Given the description of an element on the screen output the (x, y) to click on. 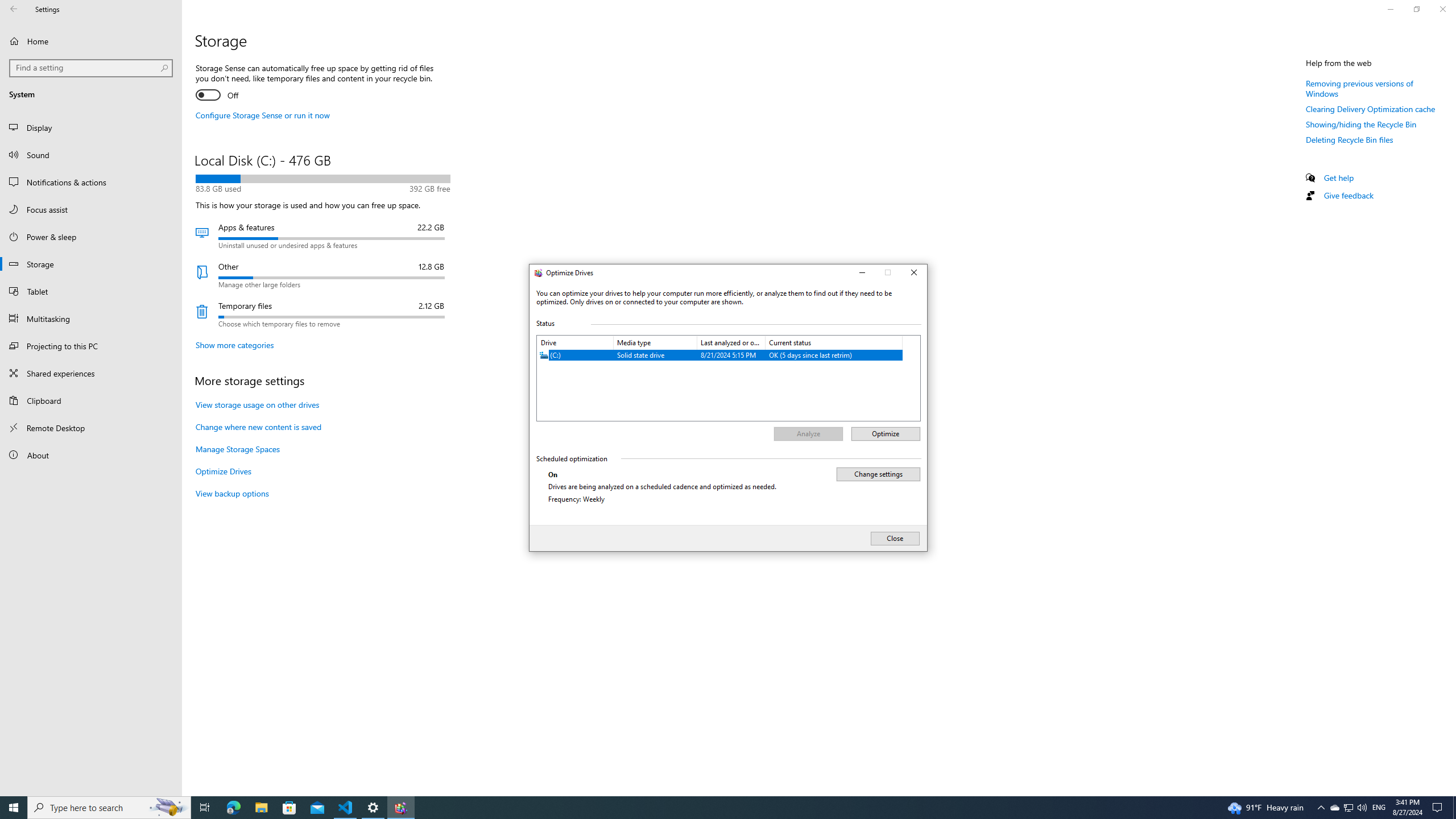
Microsoft Store (289, 807)
Notification Chevron (1320, 807)
System (535, 274)
Defragment and Optimize Drives - 1 running window (400, 807)
Visual Studio Code - 1 running window (345, 807)
Tray Input Indicator - English (United States) (1378, 807)
Type here to search (108, 807)
Minimize (861, 272)
Optimize (885, 433)
System (535, 274)
(C:) (719, 354)
Close (914, 272)
Change settings (877, 473)
Show desktop (1454, 807)
